Given the description of an element on the screen output the (x, y) to click on. 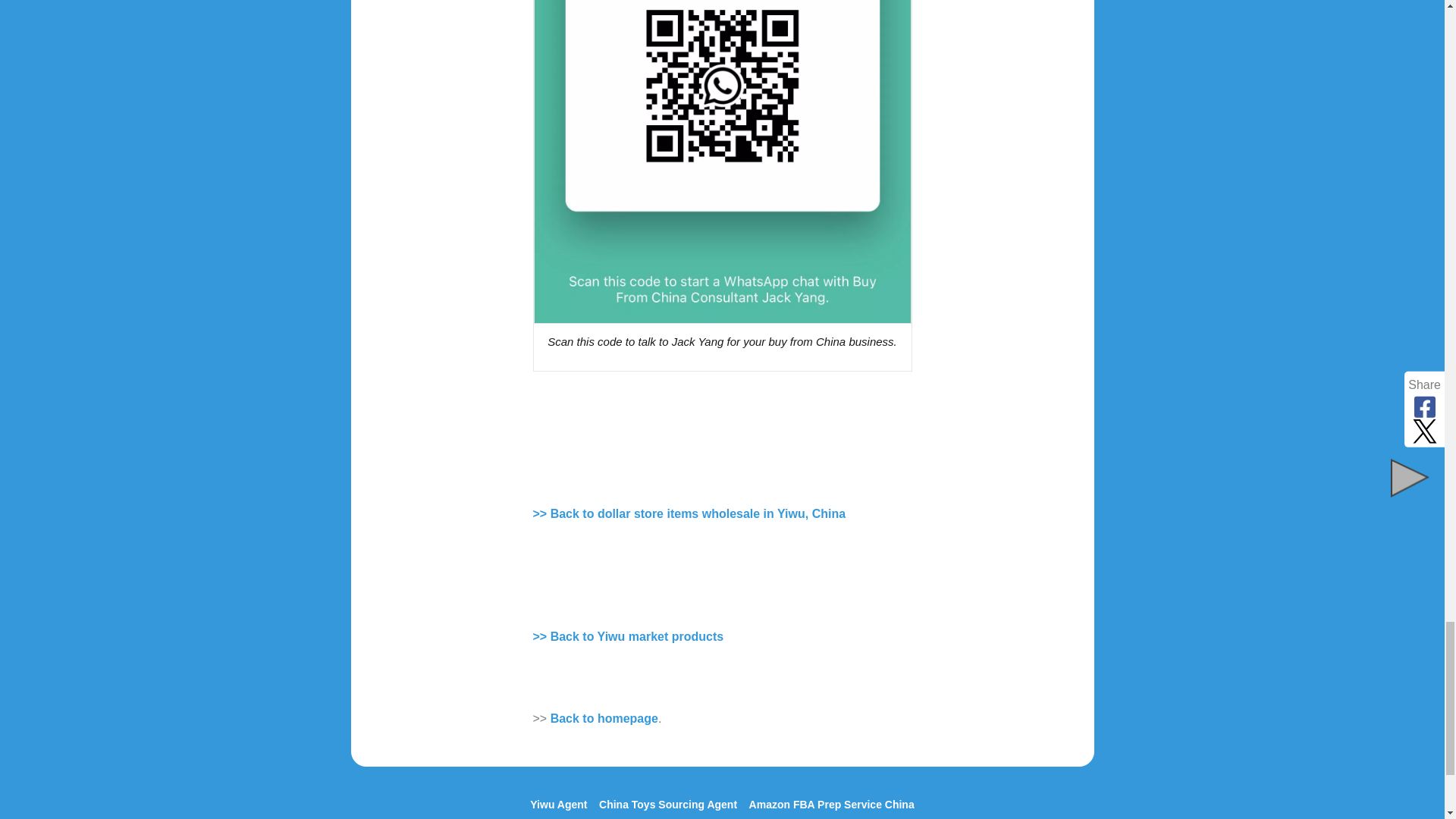
Back to homepage (604, 717)
